Given the description of an element on the screen output the (x, y) to click on. 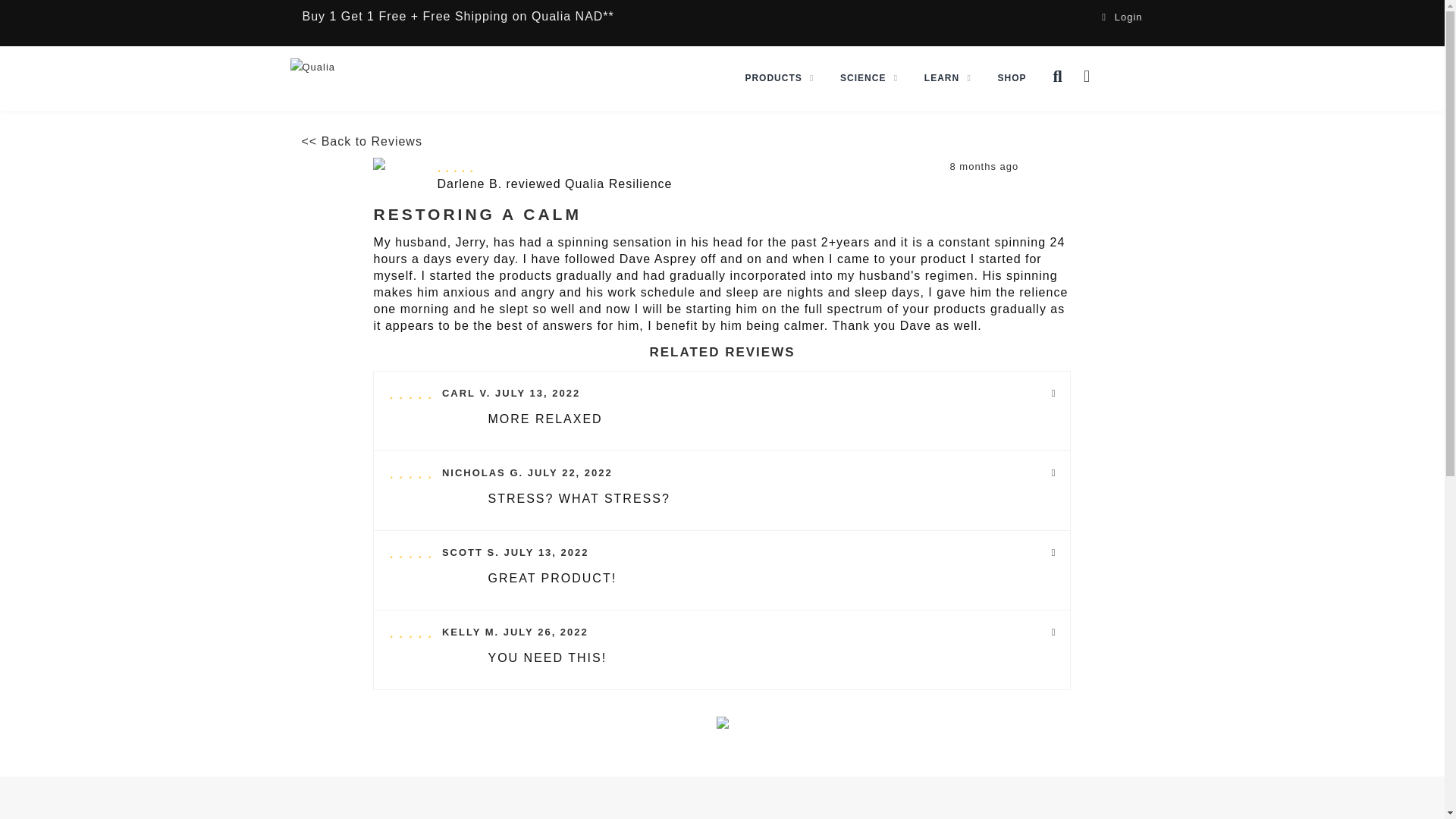
LEARN (947, 77)
Login (1121, 16)
SCIENCE (868, 77)
PRODUCTS (779, 77)
